Given the description of an element on the screen output the (x, y) to click on. 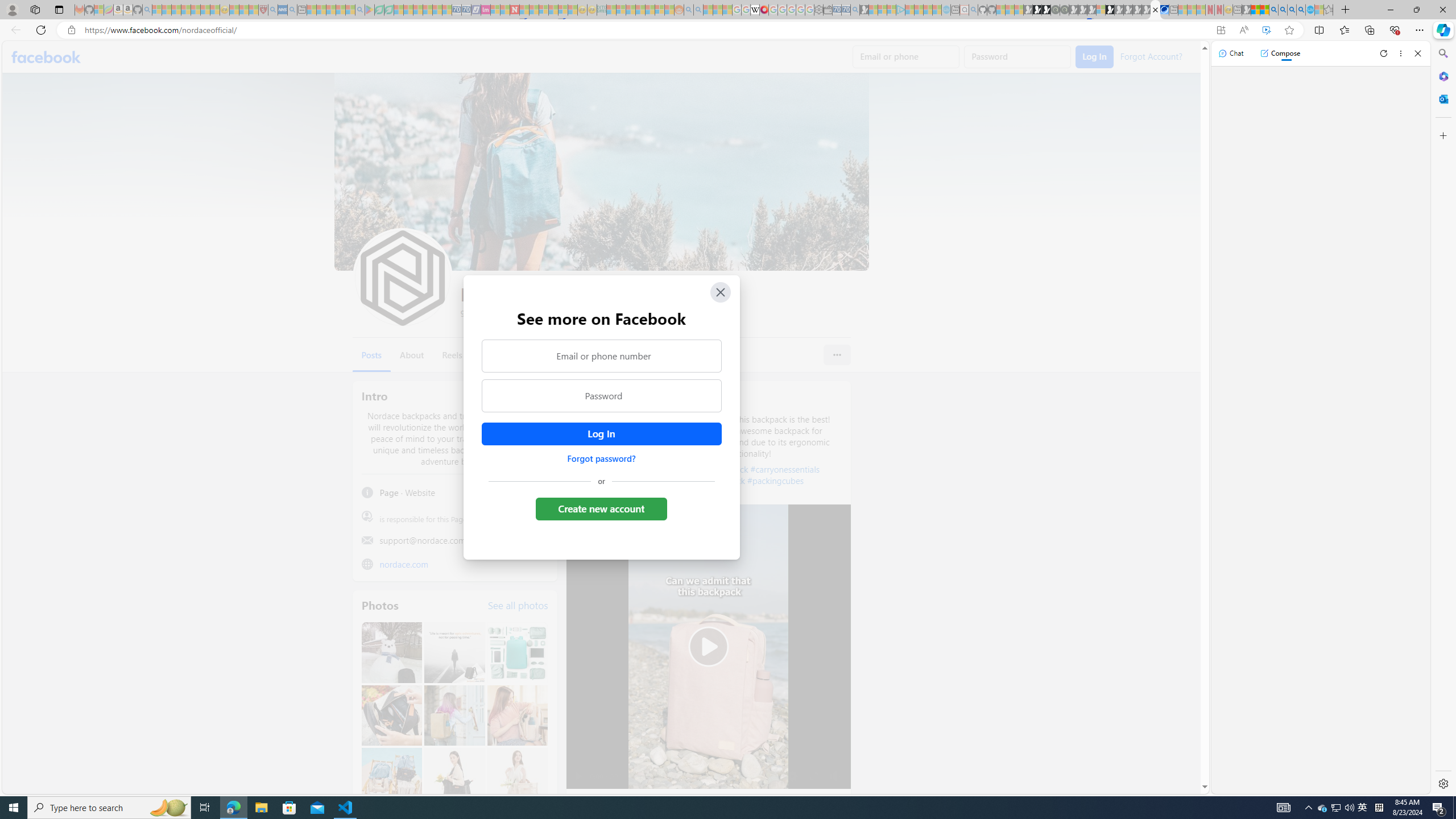
Password (600, 395)
